Given the description of an element on the screen output the (x, y) to click on. 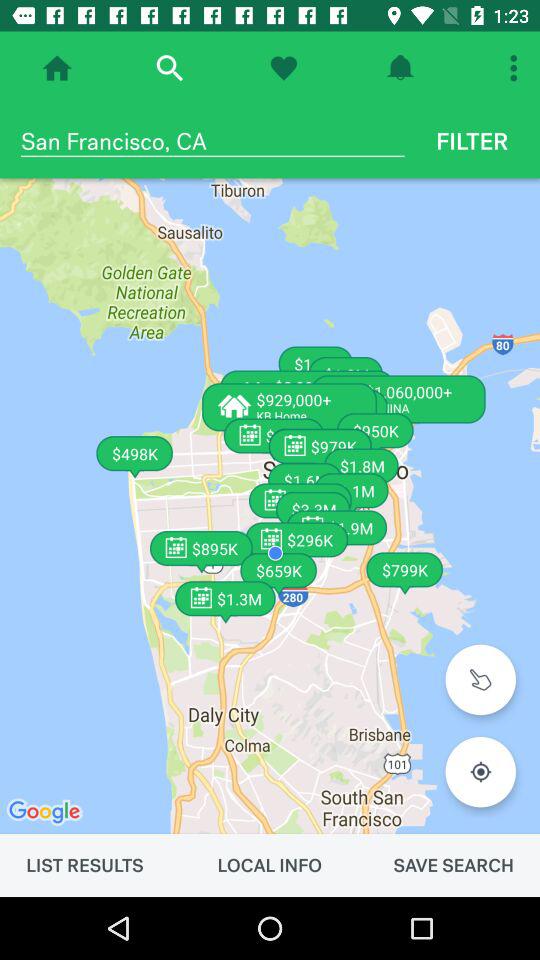
turn off the item next to the list results item (269, 865)
